Given the description of an element on the screen output the (x, y) to click on. 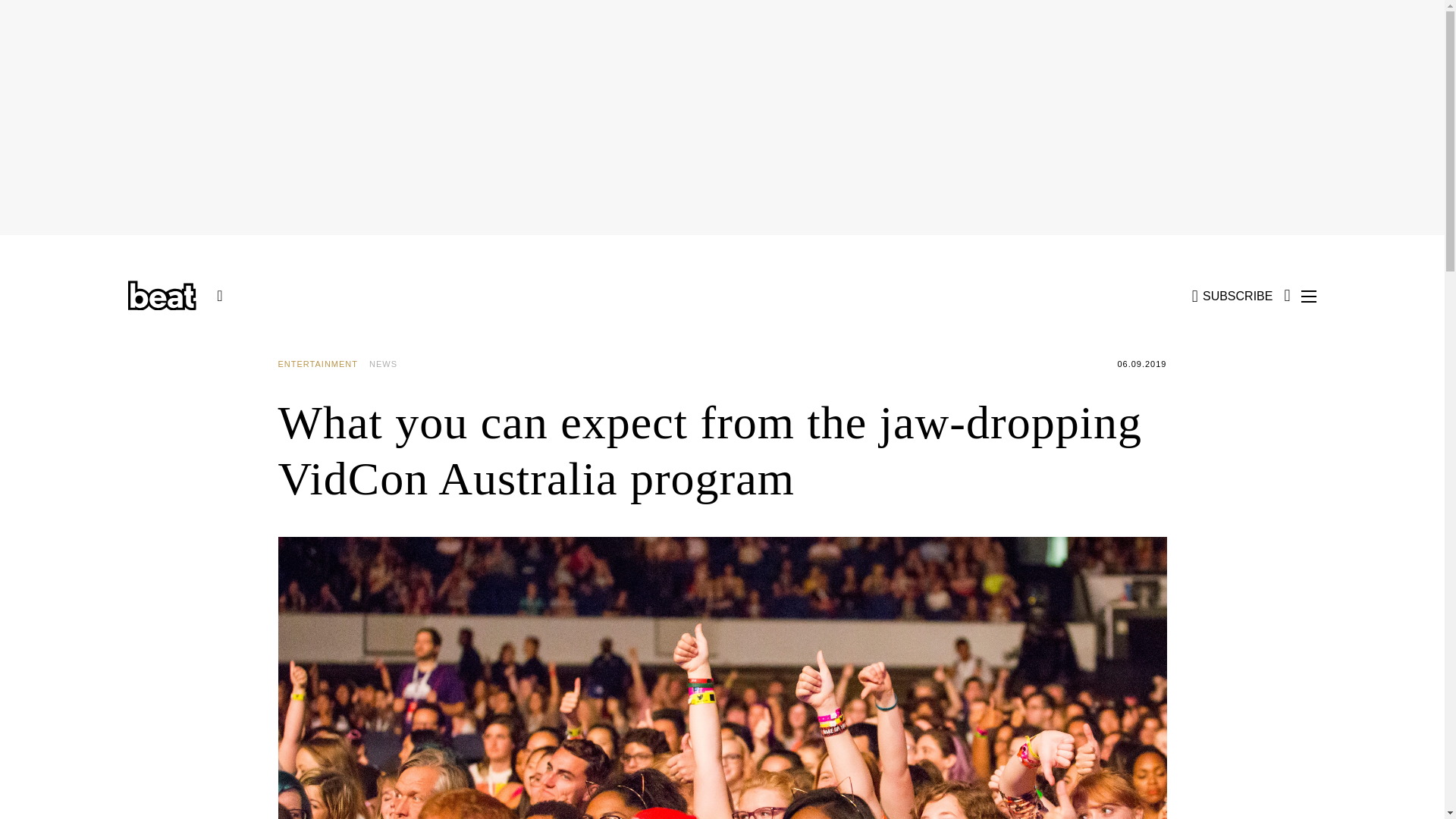
NEWS (389, 364)
ENTERTAINMENT (323, 364)
